Given the description of an element on the screen output the (x, y) to click on. 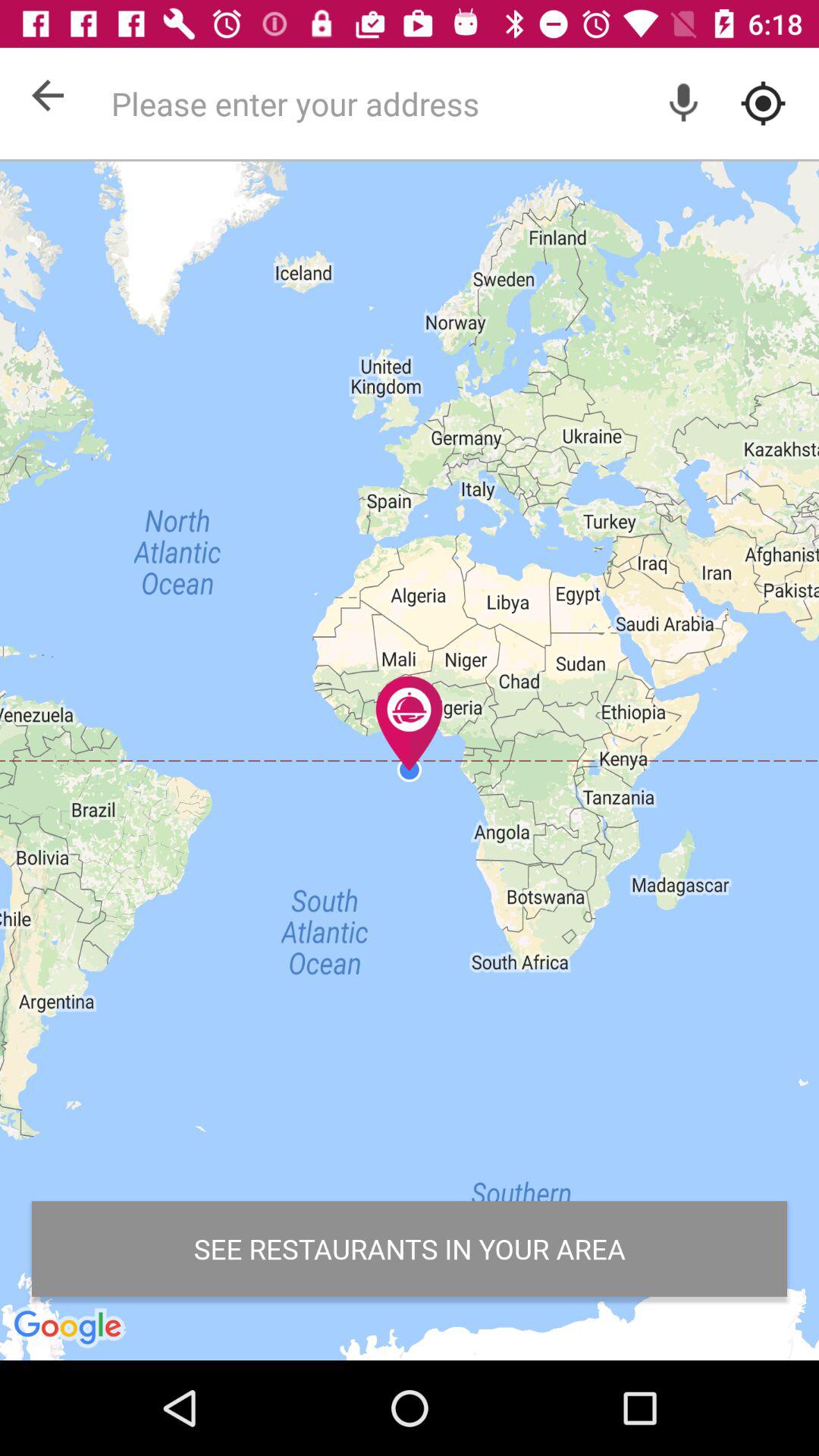
voice option (683, 103)
